Given the description of an element on the screen output the (x, y) to click on. 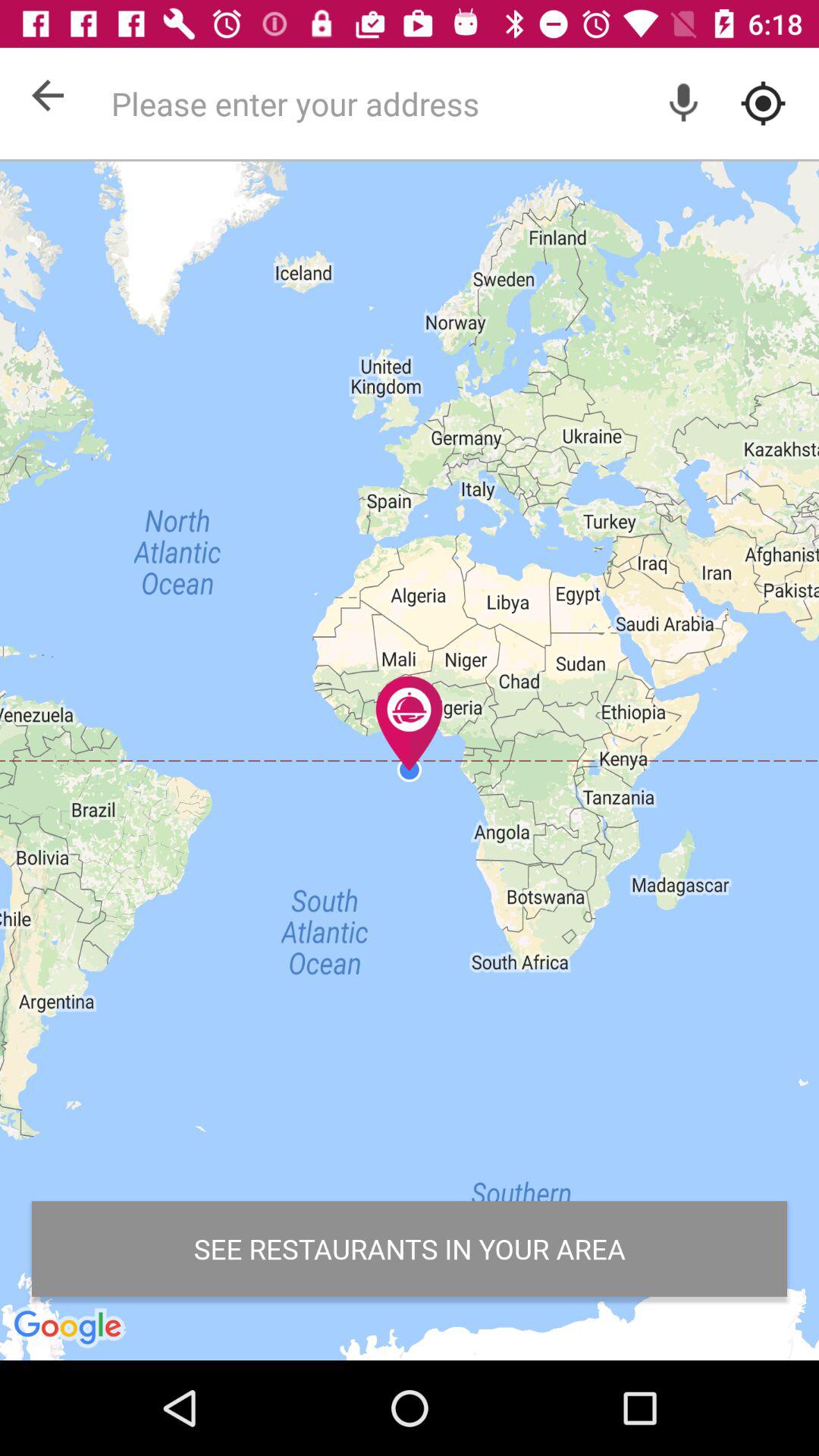
voice option (683, 103)
